Given the description of an element on the screen output the (x, y) to click on. 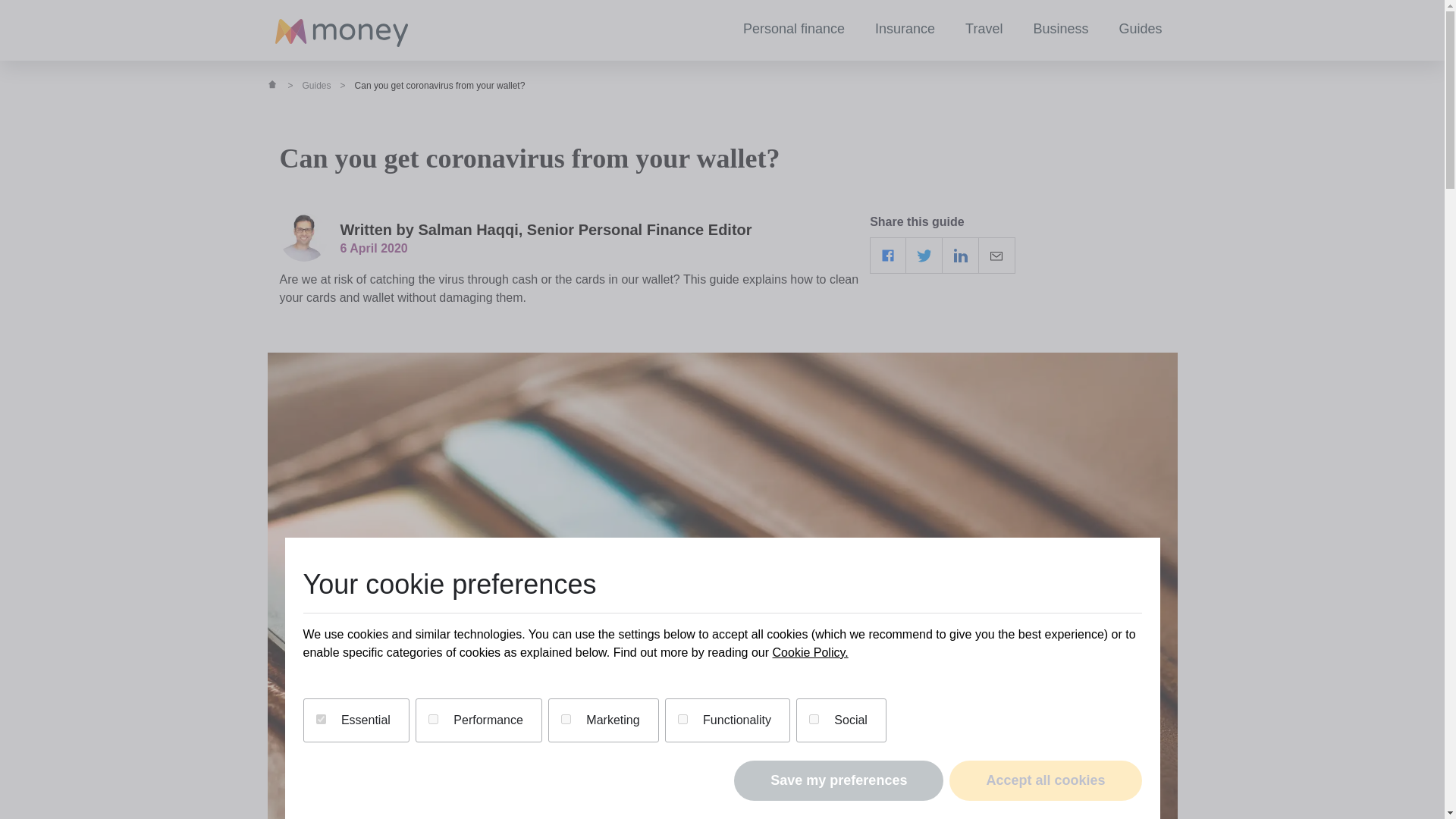
Personal finance (794, 30)
on (565, 718)
on (433, 718)
on (319, 718)
Money (341, 33)
on (813, 718)
on (682, 718)
